Given the description of an element on the screen output the (x, y) to click on. 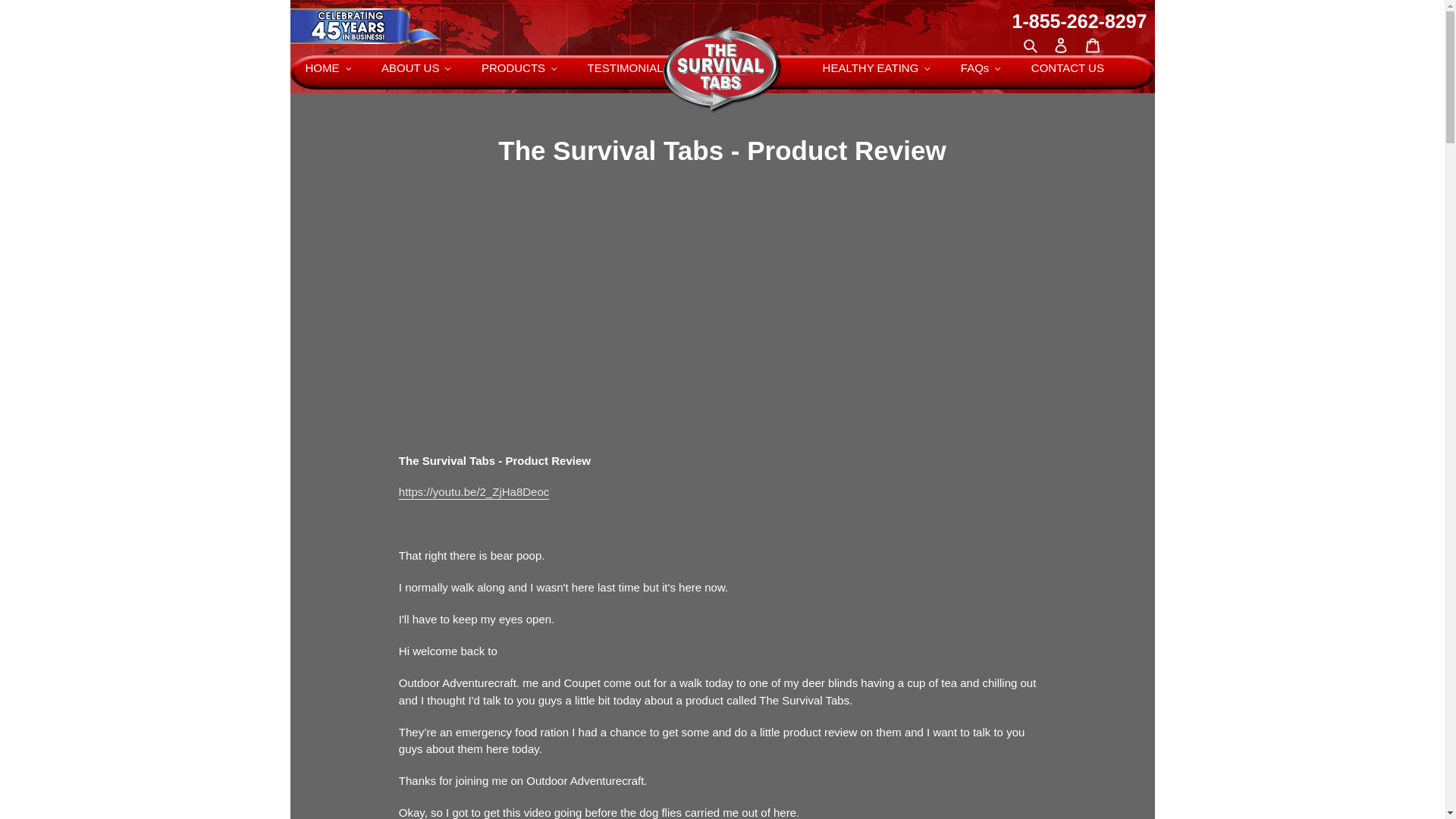
Search (1031, 45)
Cart (1092, 44)
Log in (1061, 44)
